Given the description of an element on the screen output the (x, y) to click on. 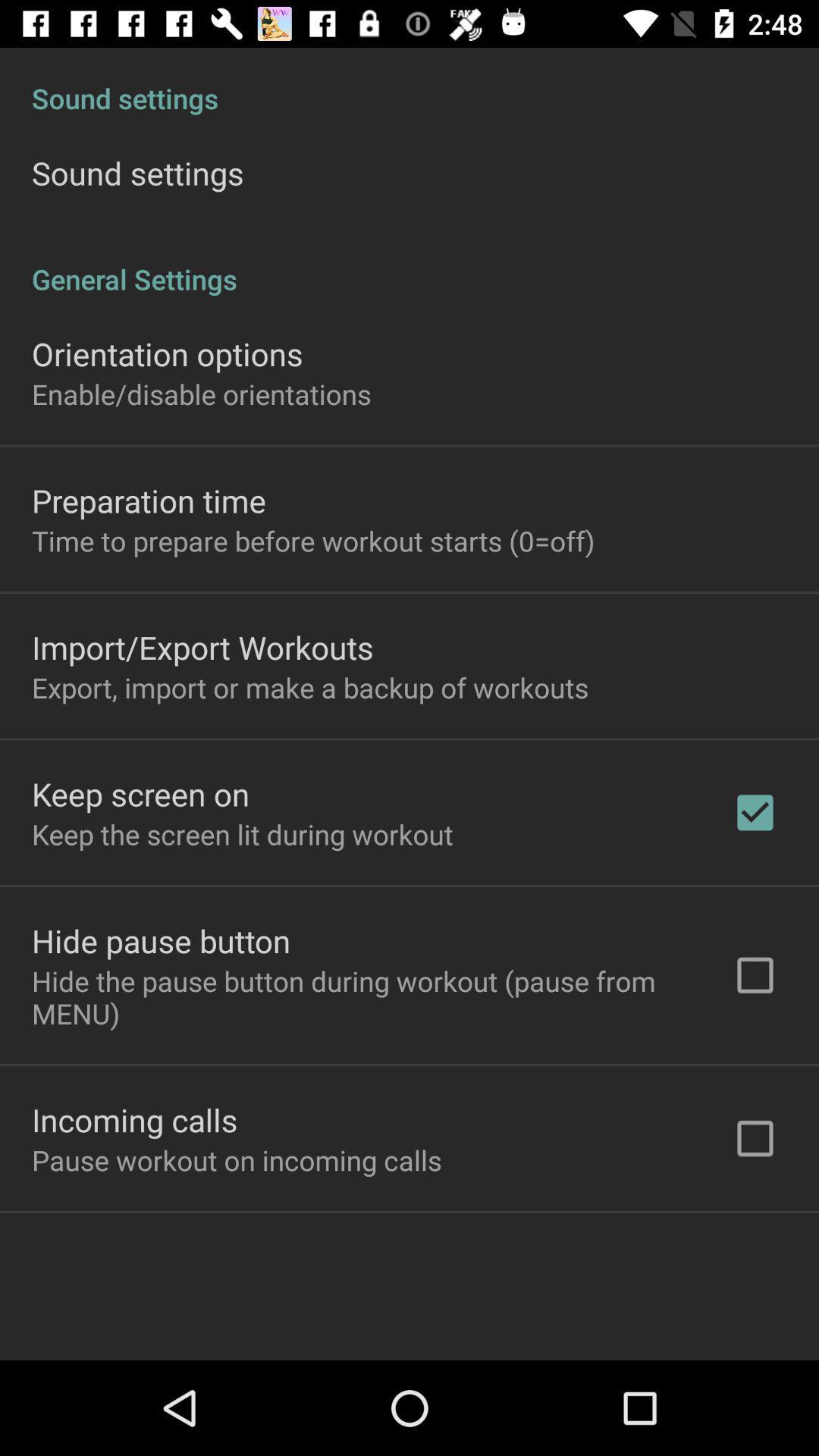
open enable/disable orientations (201, 393)
